Given the description of an element on the screen output the (x, y) to click on. 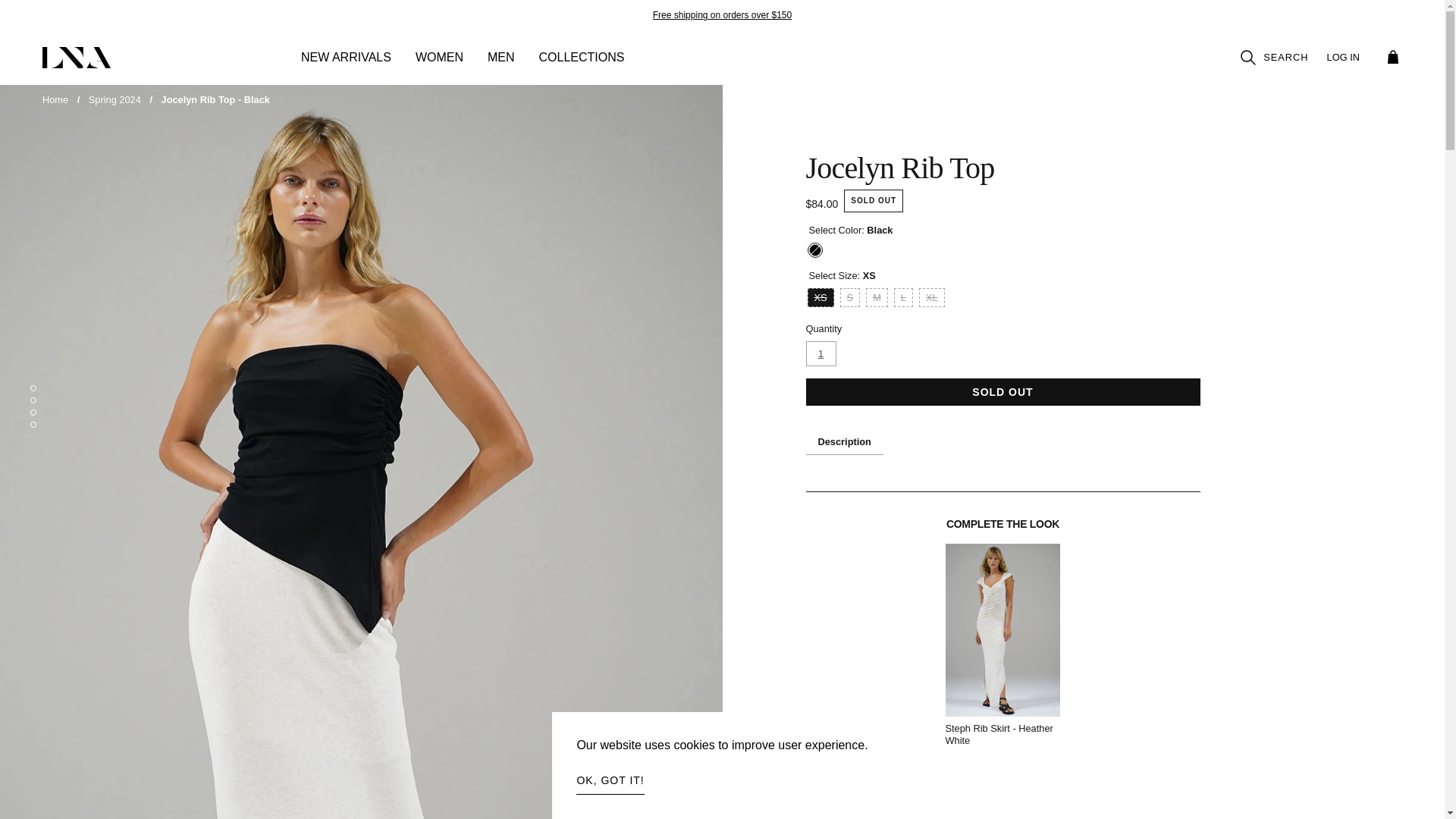
L (902, 297)
Back to the frontpage (55, 99)
1 (820, 353)
XL (931, 297)
Black (814, 249)
WOMEN (438, 65)
NEW ARRIVALS (346, 65)
M (877, 297)
XS (819, 297)
S (850, 297)
